Given the description of an element on the screen output the (x, y) to click on. 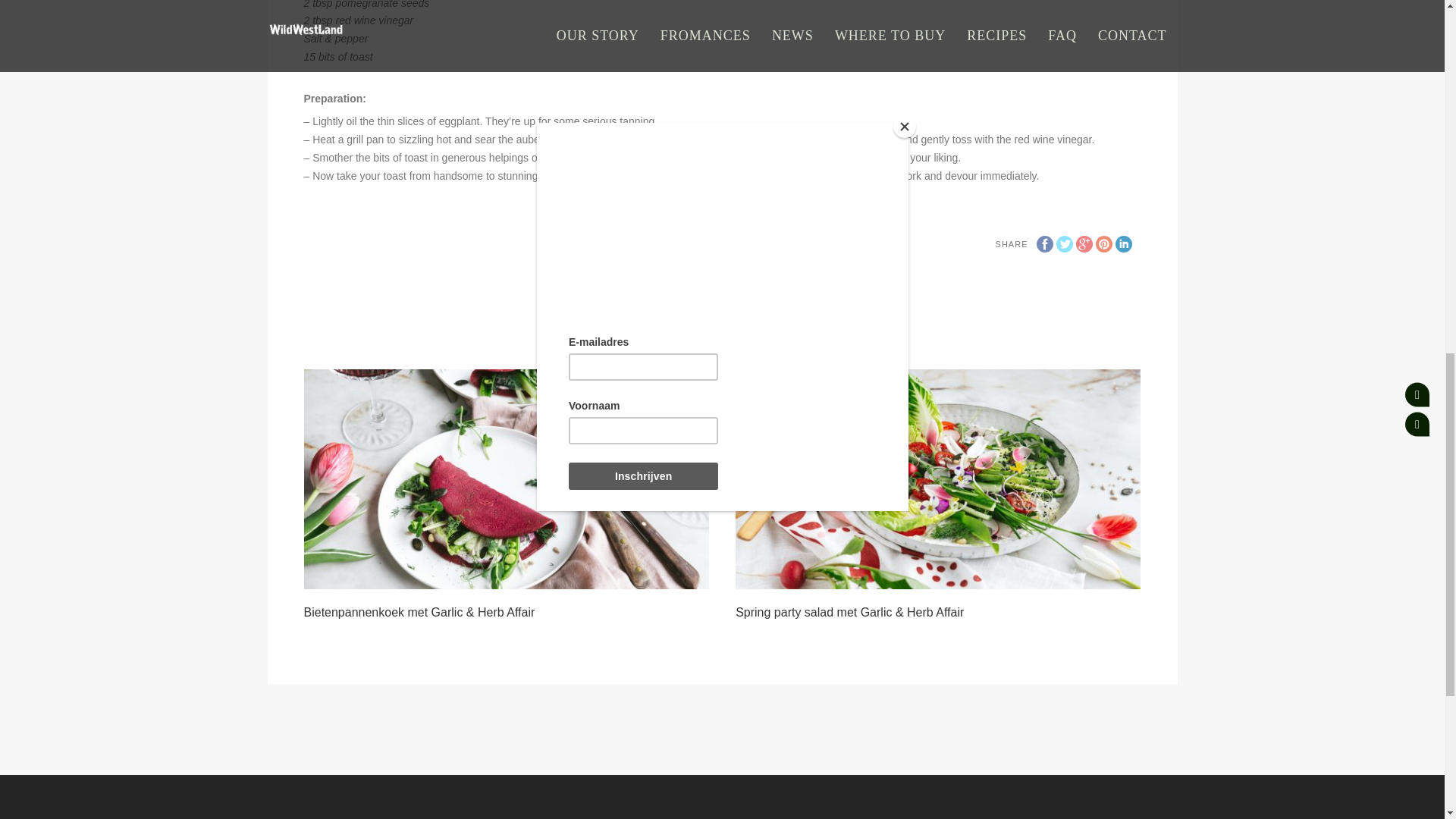
LinkedIn (1123, 243)
Facebook (1043, 243)
Twitter (1063, 243)
Pinterest (1103, 243)
